Given the description of an element on the screen output the (x, y) to click on. 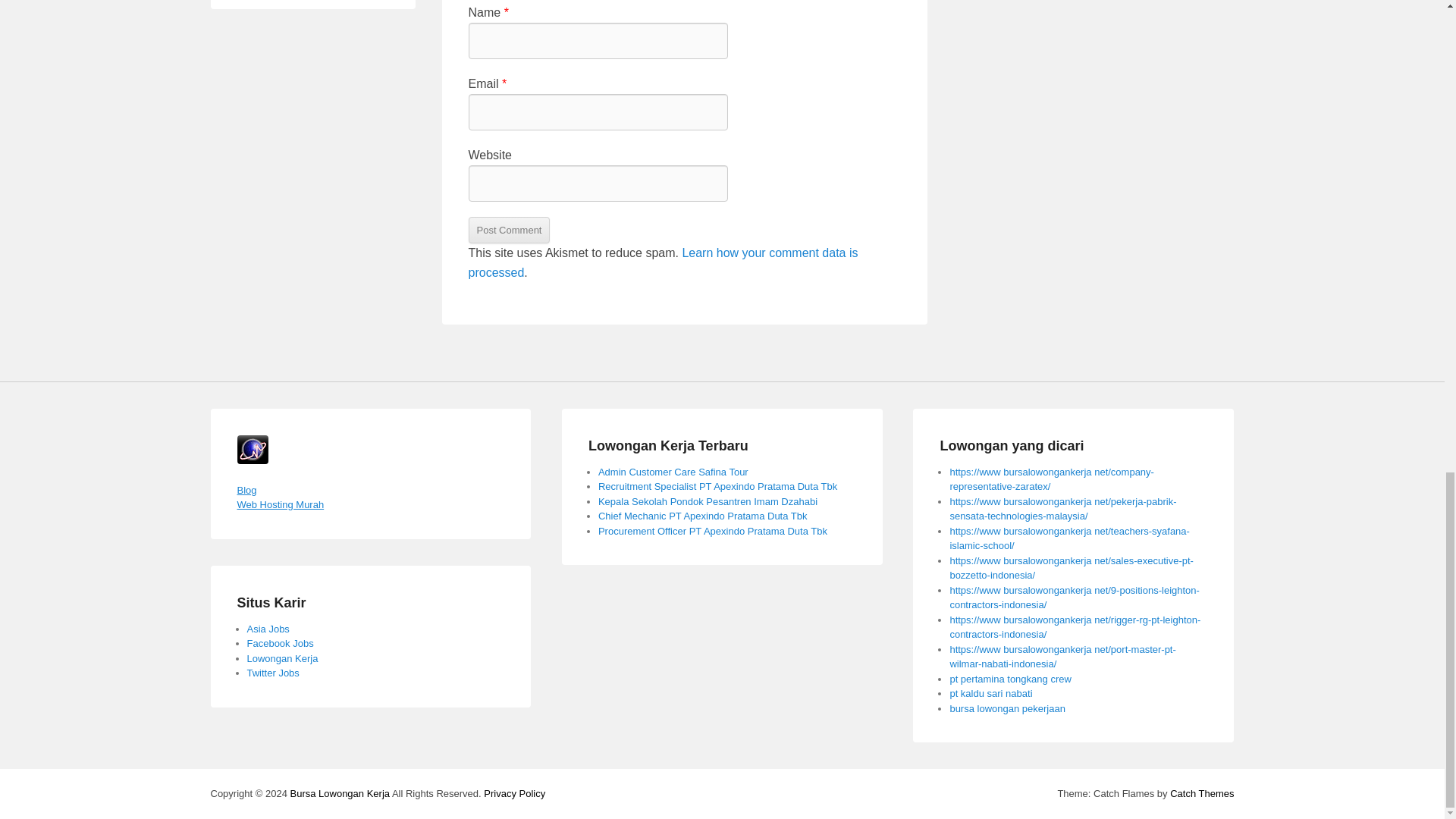
eXTReMe Tracker - Free Website Statistics (251, 460)
Follow us! (273, 672)
Post Comment (509, 230)
Learn how your comment data is processed (663, 262)
Become Fan (280, 643)
Post Comment (509, 230)
